Given the description of an element on the screen output the (x, y) to click on. 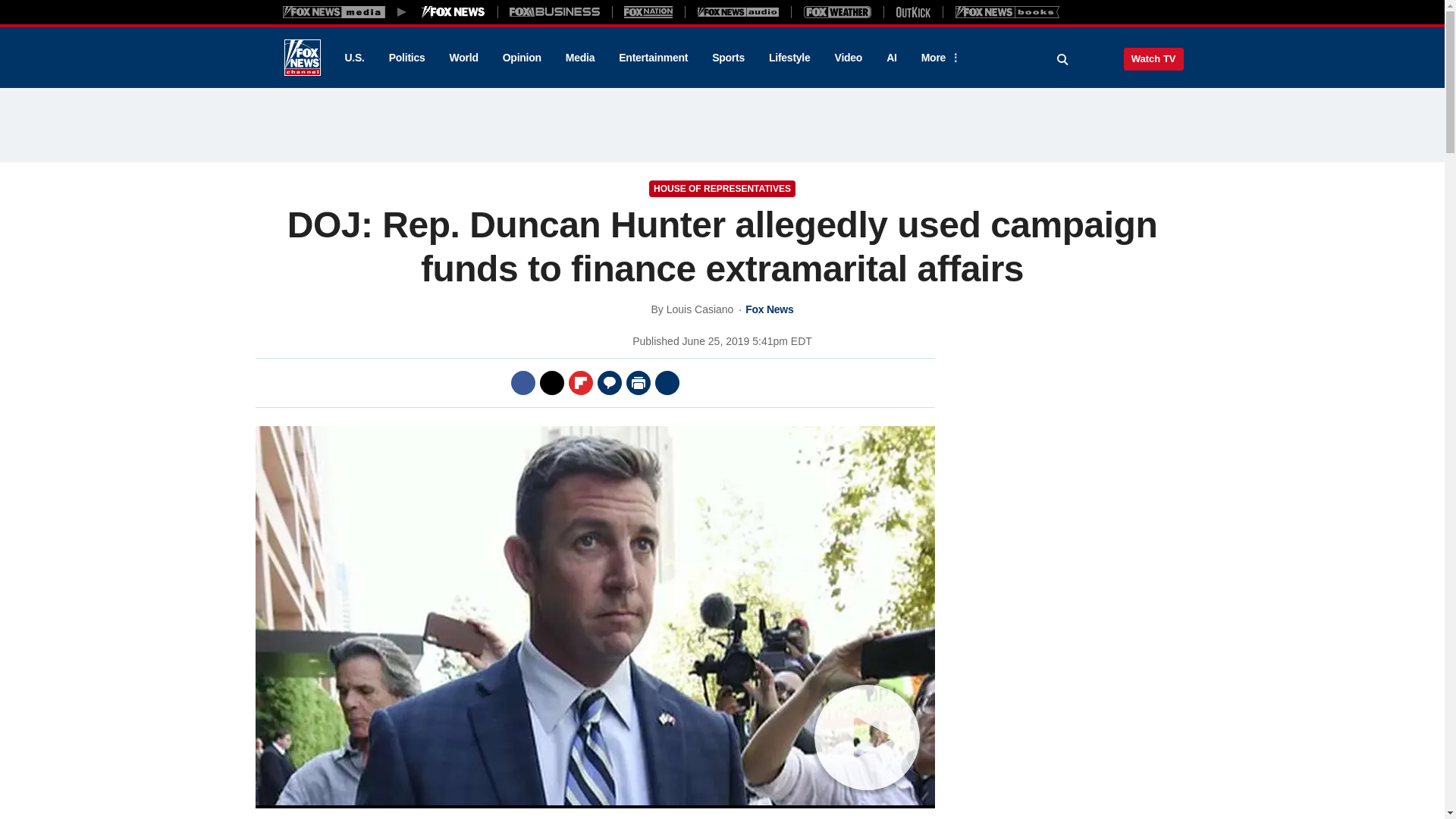
World (464, 57)
Politics (407, 57)
Fox Weather (836, 11)
Media (580, 57)
Watch TV (1153, 58)
Video (848, 57)
Fox News Audio (737, 11)
Books (1007, 11)
U.S. (353, 57)
Entertainment (653, 57)
